Given the description of an element on the screen output the (x, y) to click on. 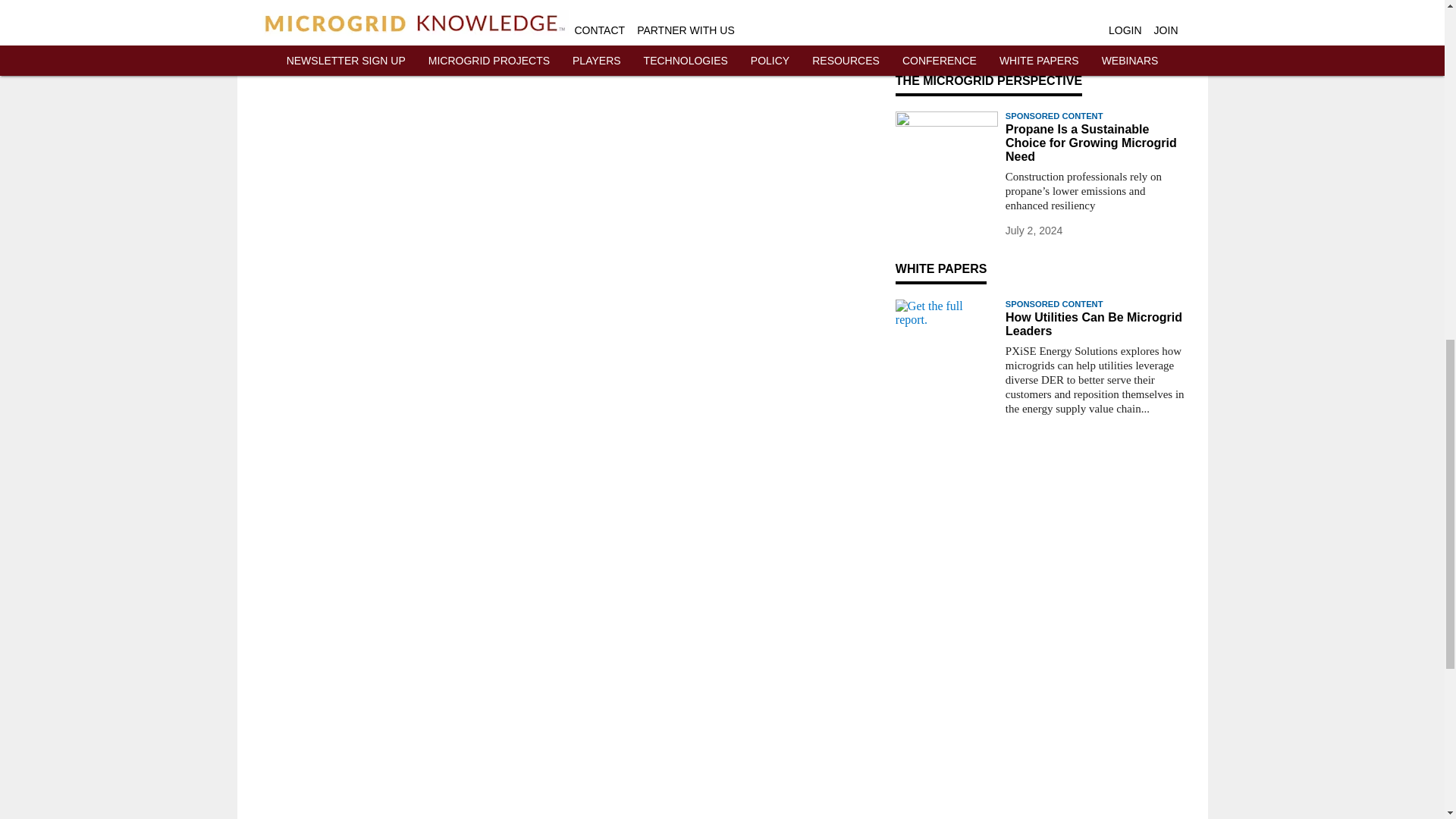
Tor Anderson, Power Engineers (946, 24)
Get the full report. (946, 327)
